Given the description of an element on the screen output the (x, y) to click on. 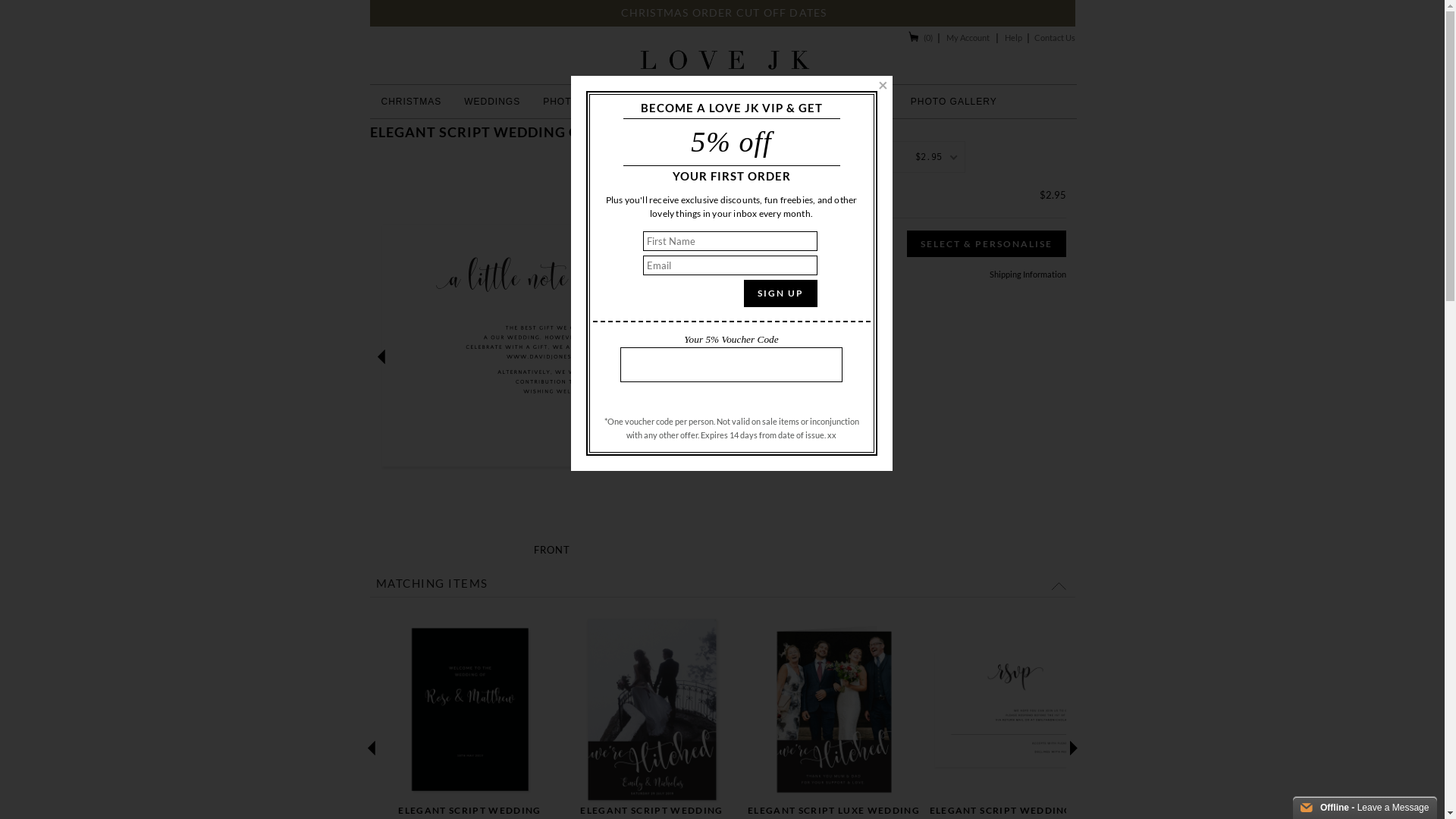
PHOTO GALLERY Element type: text (953, 101)
Help Element type: text (1012, 37)
My Account Element type: text (967, 37)
Front Element type: hover (1015, 709)
Love JK Element type: hover (722, 55)
Contact Us Element type: text (1054, 37)
SIGN UP Element type: text (779, 293)
Front Element type: hover (651, 709)
          (0) Element type: text (920, 37)
Shipping Information Element type: text (1026, 274)
MATCHING ITEMS Element type: text (722, 583)
SELECT & PERSONALISE Element type: text (986, 243)
